Given the description of an element on the screen output the (x, y) to click on. 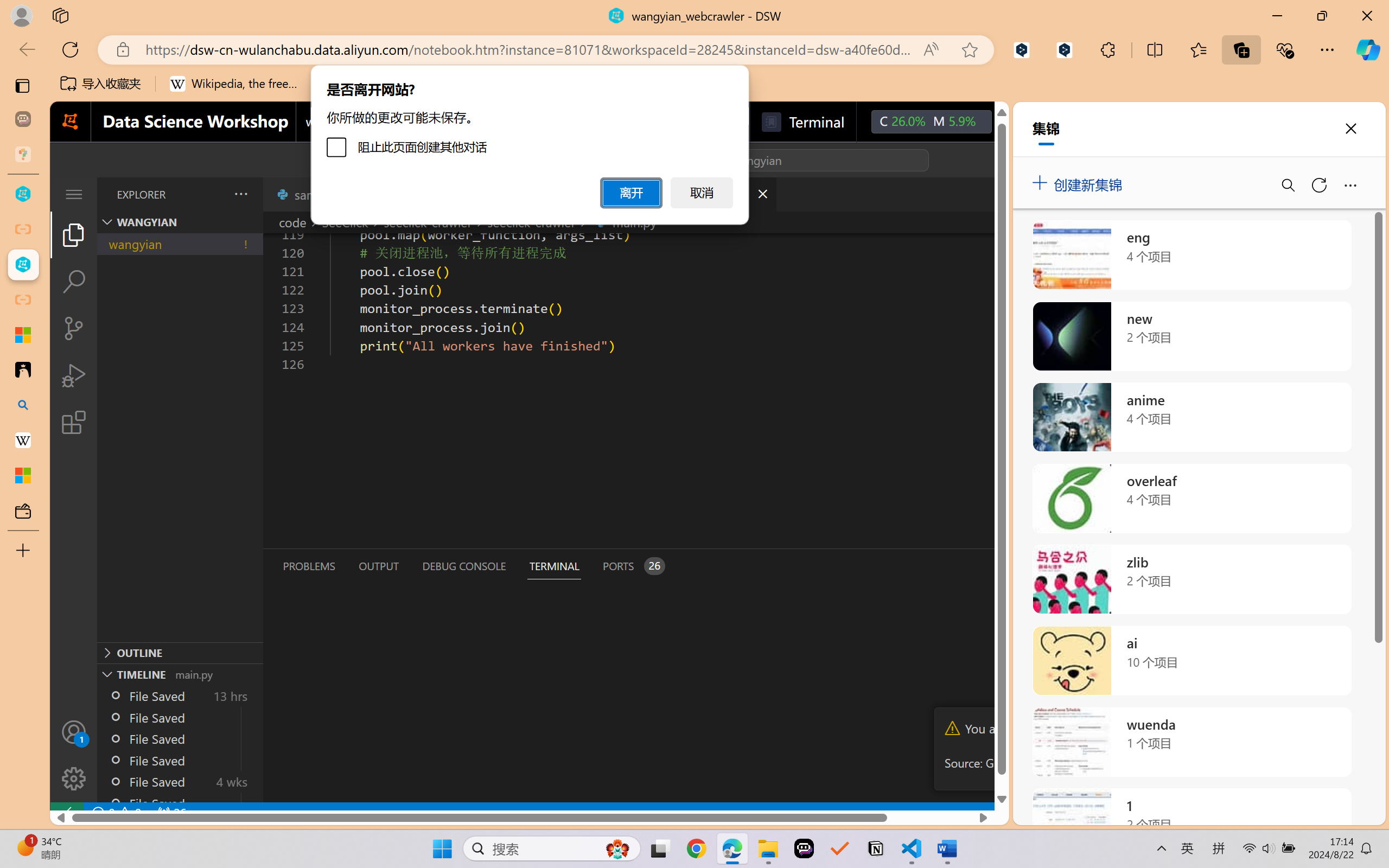
C26.0% M5.9% (930, 121)
Extensions (Ctrl+Shift+X) (73, 422)
